Given the description of an element on the screen output the (x, y) to click on. 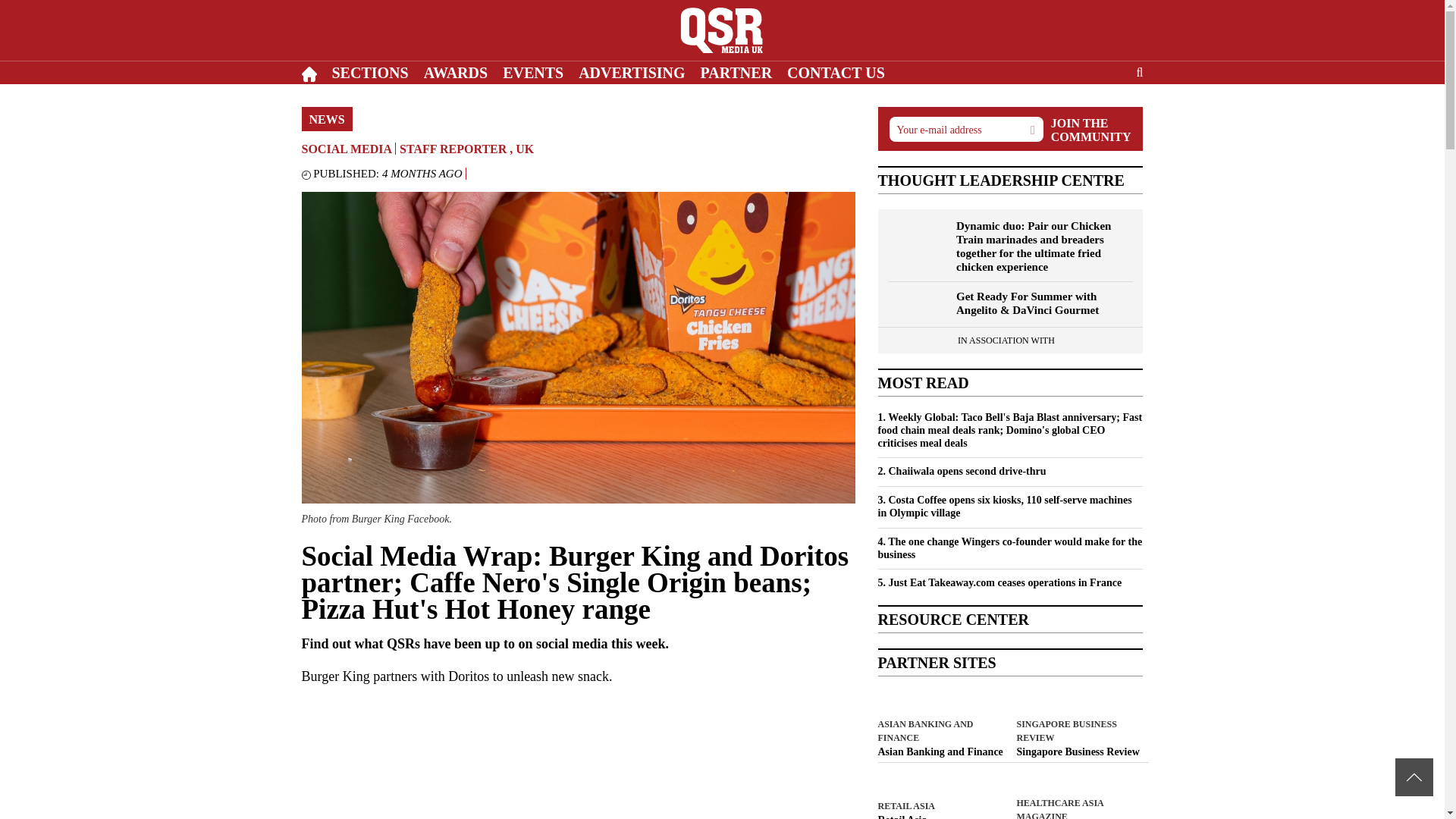
Please enter a valid email (965, 129)
Mergers and closures loom for China's 3,800 rural banks (940, 752)
